Given the description of an element on the screen output the (x, y) to click on. 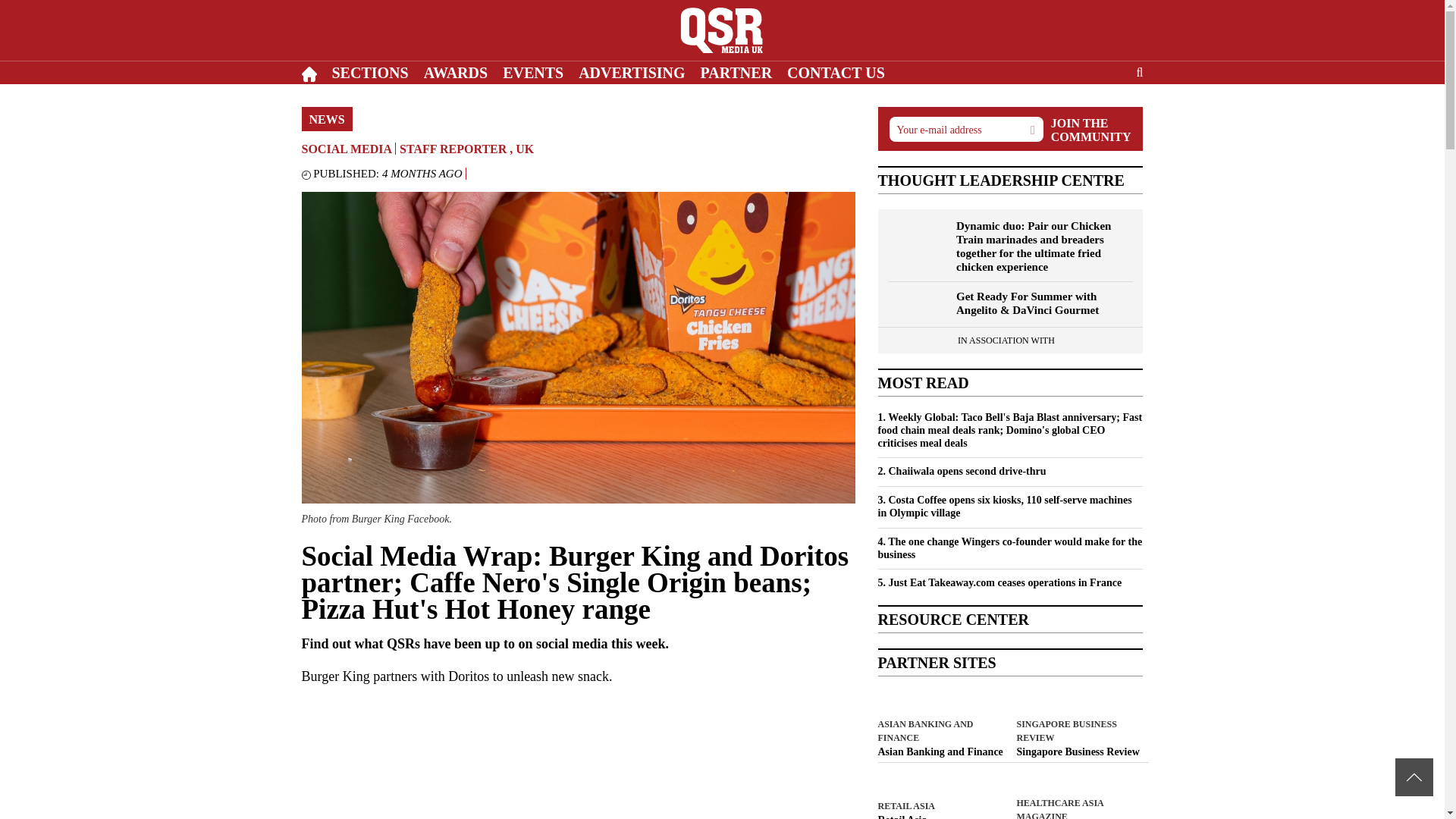
Please enter a valid email (965, 129)
Mergers and closures loom for China's 3,800 rural banks (940, 752)
